Given the description of an element on the screen output the (x, y) to click on. 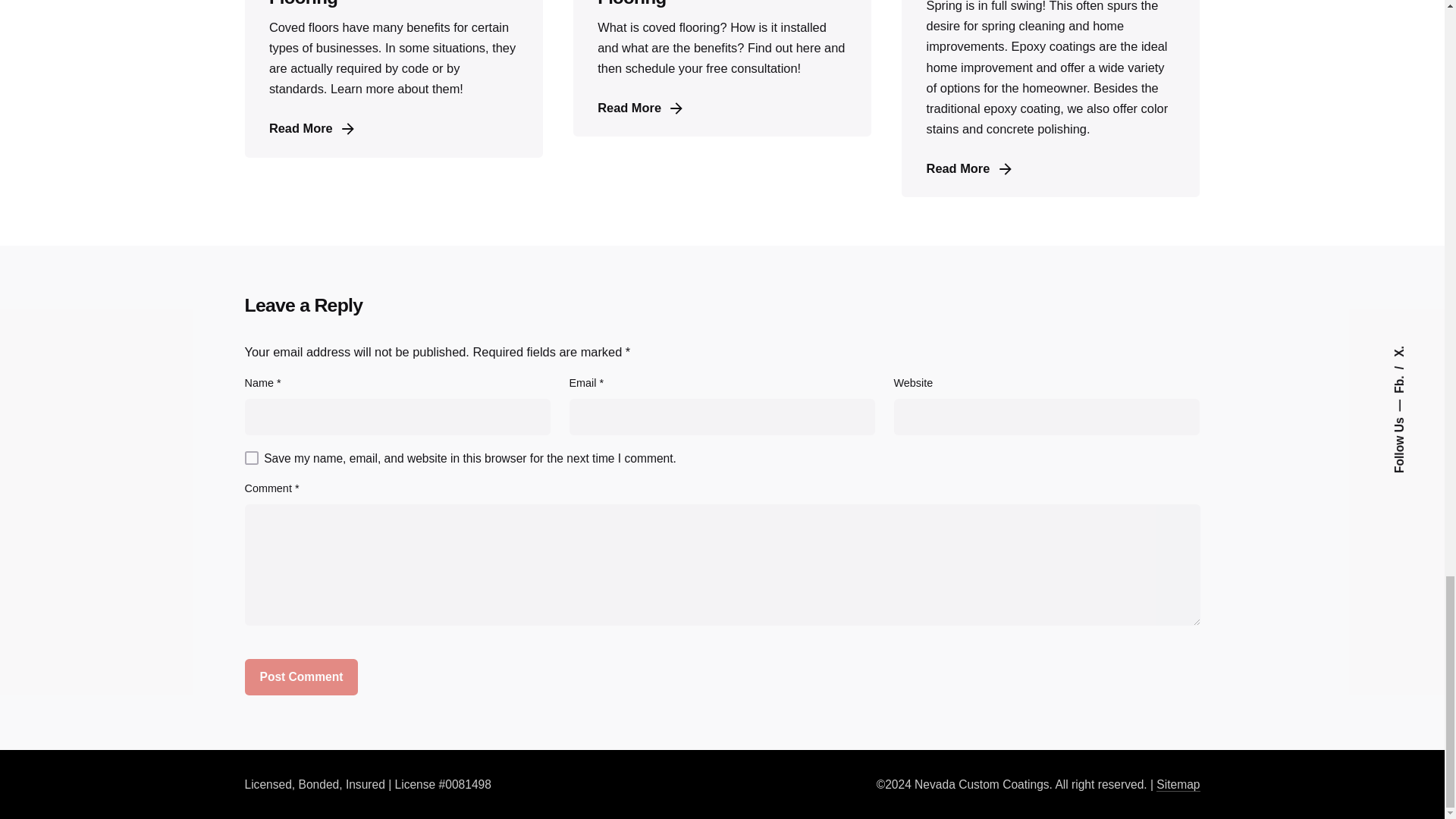
yes (250, 458)
Post Comment (301, 677)
